Given the description of an element on the screen output the (x, y) to click on. 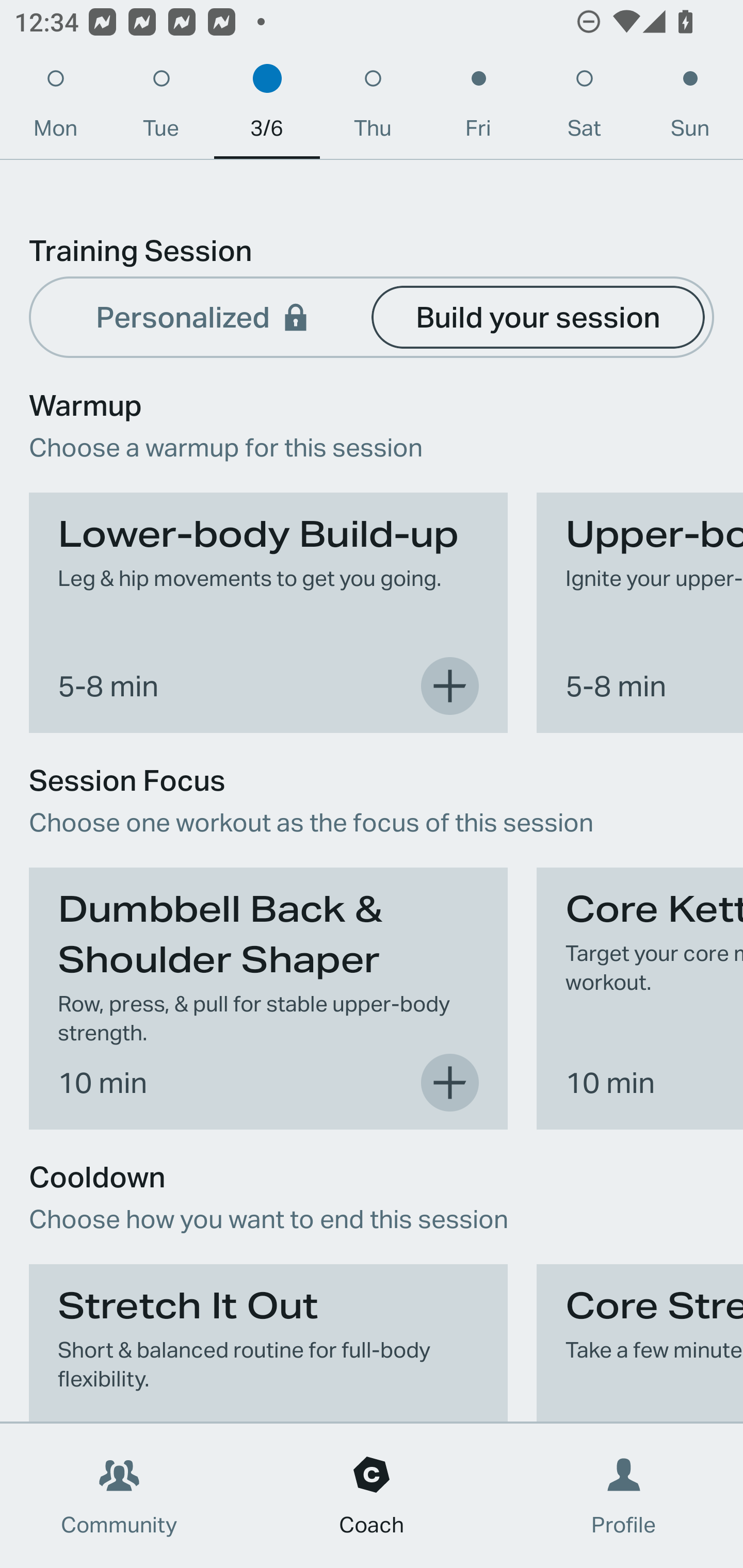
Mon (55, 108)
Tue (160, 108)
3/6 (266, 108)
Thu (372, 108)
Fri (478, 108)
Sat (584, 108)
Sun (690, 108)
Personalized (204, 315)
Build your session (538, 315)
Community (119, 1495)
Profile (624, 1495)
